Given the description of an element on the screen output the (x, y) to click on. 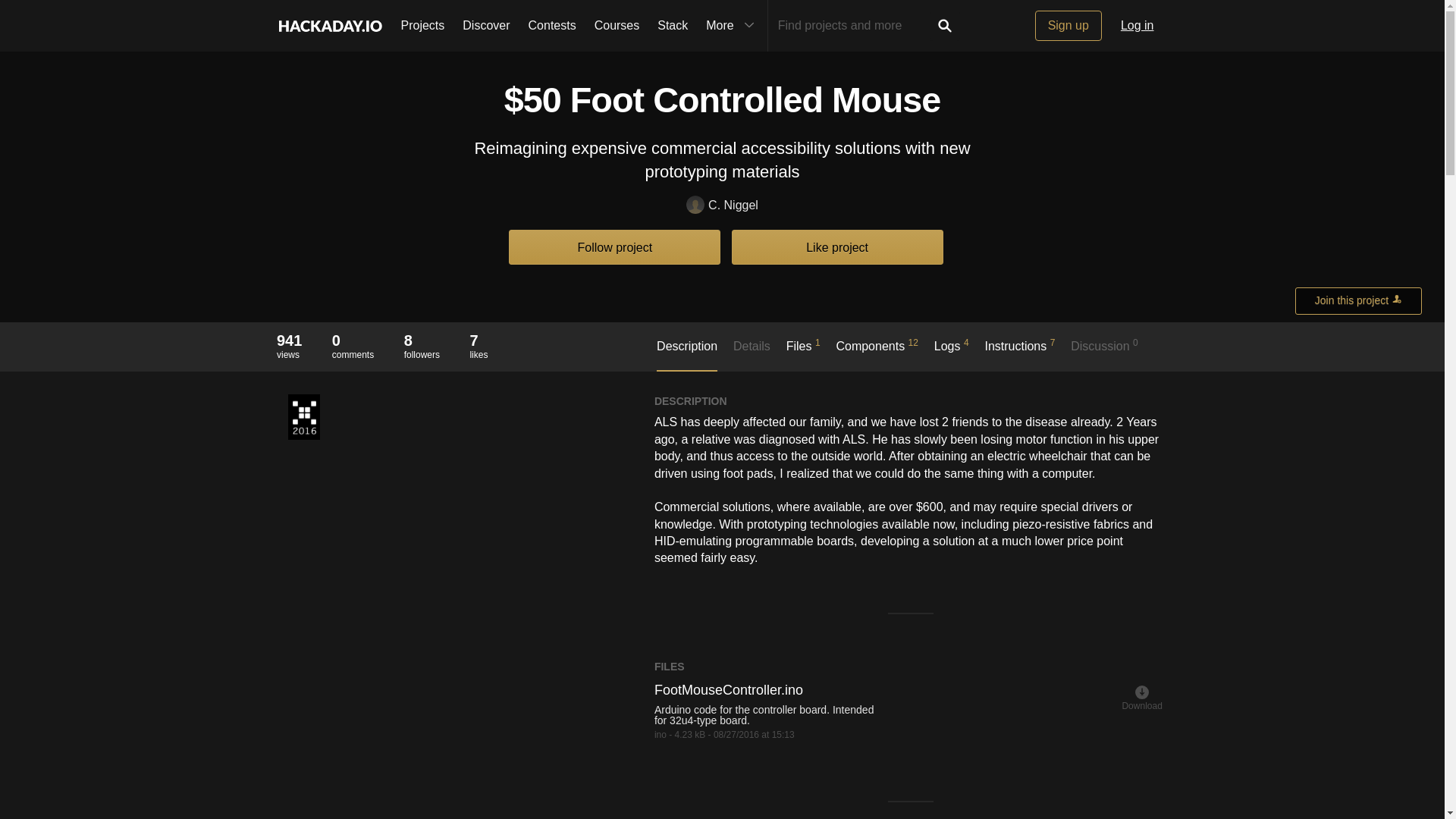
Contests (552, 25)
Files 1 (803, 353)
Files 1 (803, 353)
Followers (421, 340)
Follow project (614, 246)
Discover (421, 345)
Search (485, 25)
Instructions 7 (944, 25)
View Count (1019, 353)
Comments (288, 340)
More (352, 340)
Logs 4 (352, 345)
Join this project (732, 25)
